Given the description of an element on the screen output the (x, y) to click on. 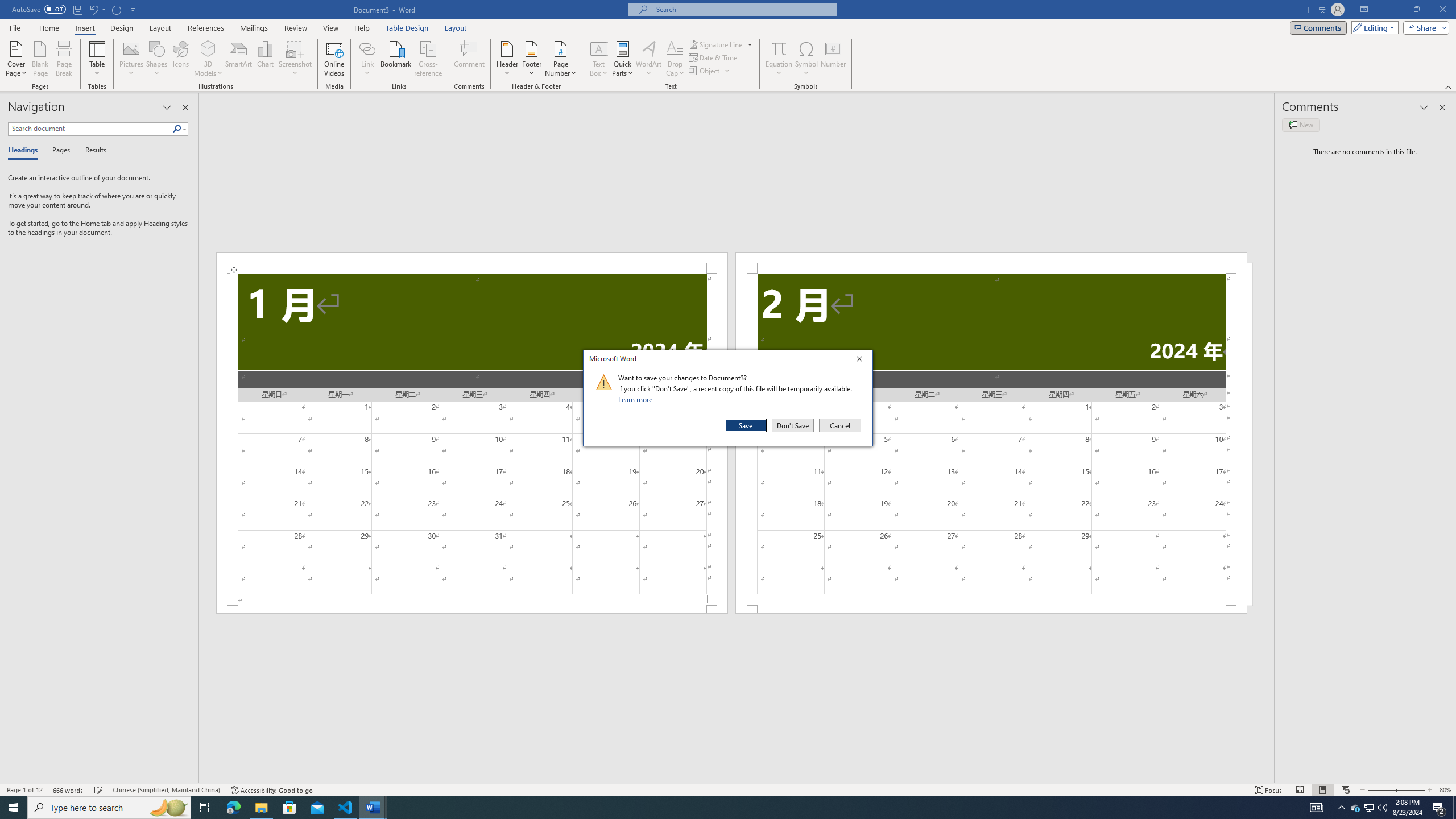
Mode (1372, 27)
Symbol (806, 58)
Header -Section 2- (1368, 807)
3D Models (991, 263)
Link (208, 48)
Restore Down (367, 48)
Show desktop (1416, 9)
Layout (1454, 807)
Action Center, 2 new notifications (455, 28)
References (1439, 807)
Spelling and Grammar Check Checking (205, 28)
